Given the description of an element on the screen output the (x, y) to click on. 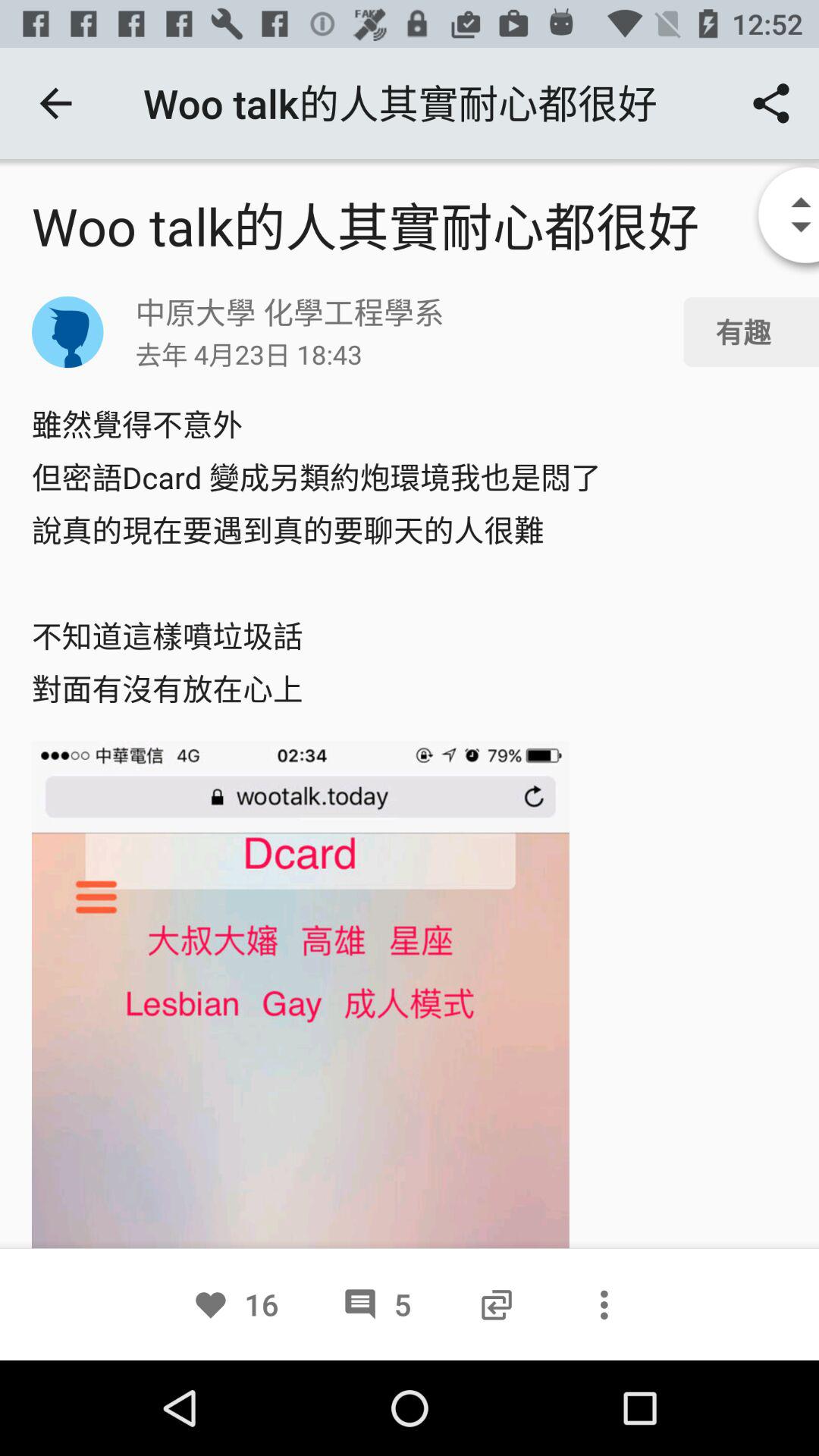
tap the icon next to 5 item (496, 1304)
